Given the description of an element on the screen output the (x, y) to click on. 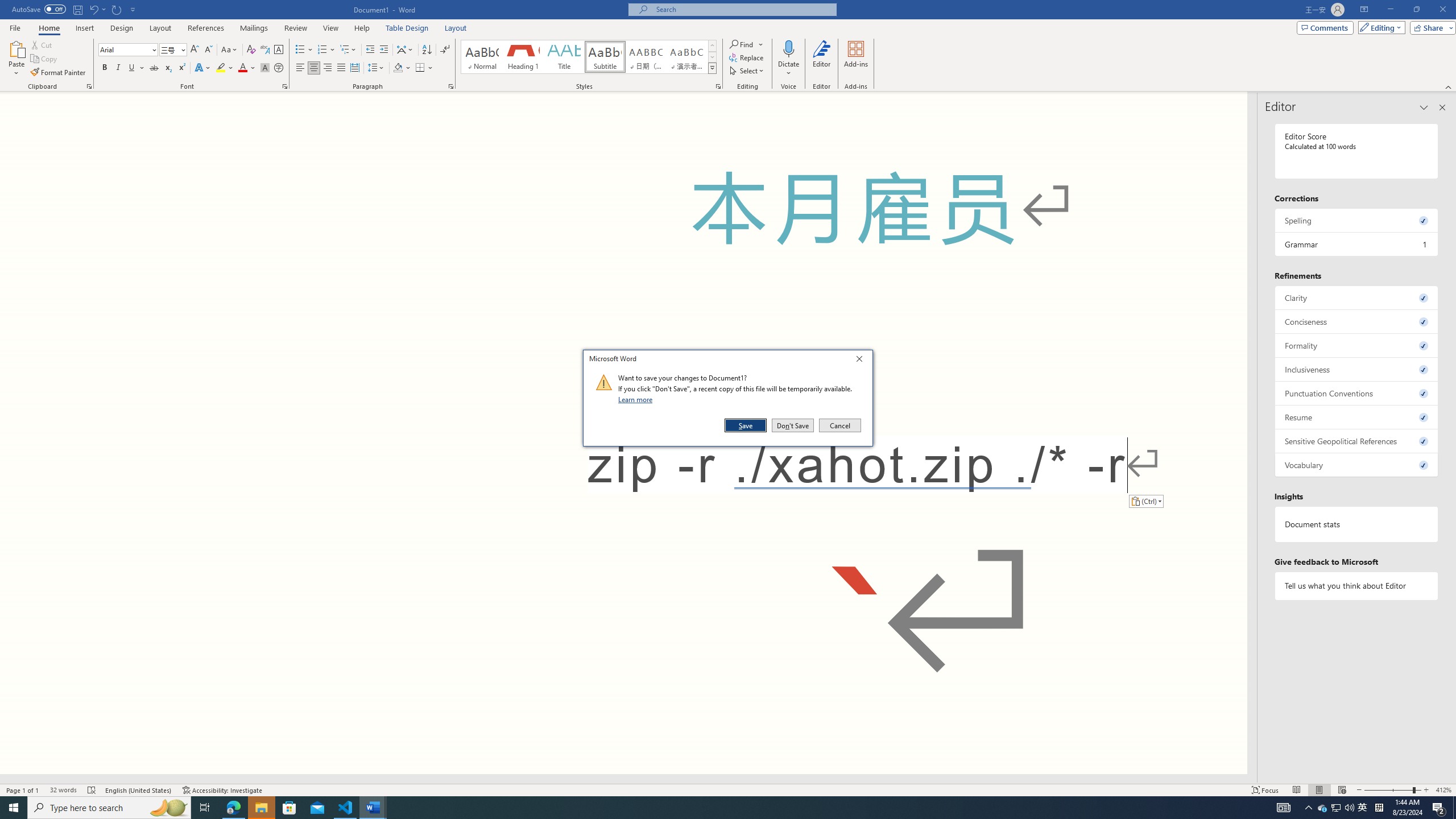
Running applications (700, 807)
Zoom 412% (1443, 790)
